Given the description of an element on the screen output the (x, y) to click on. 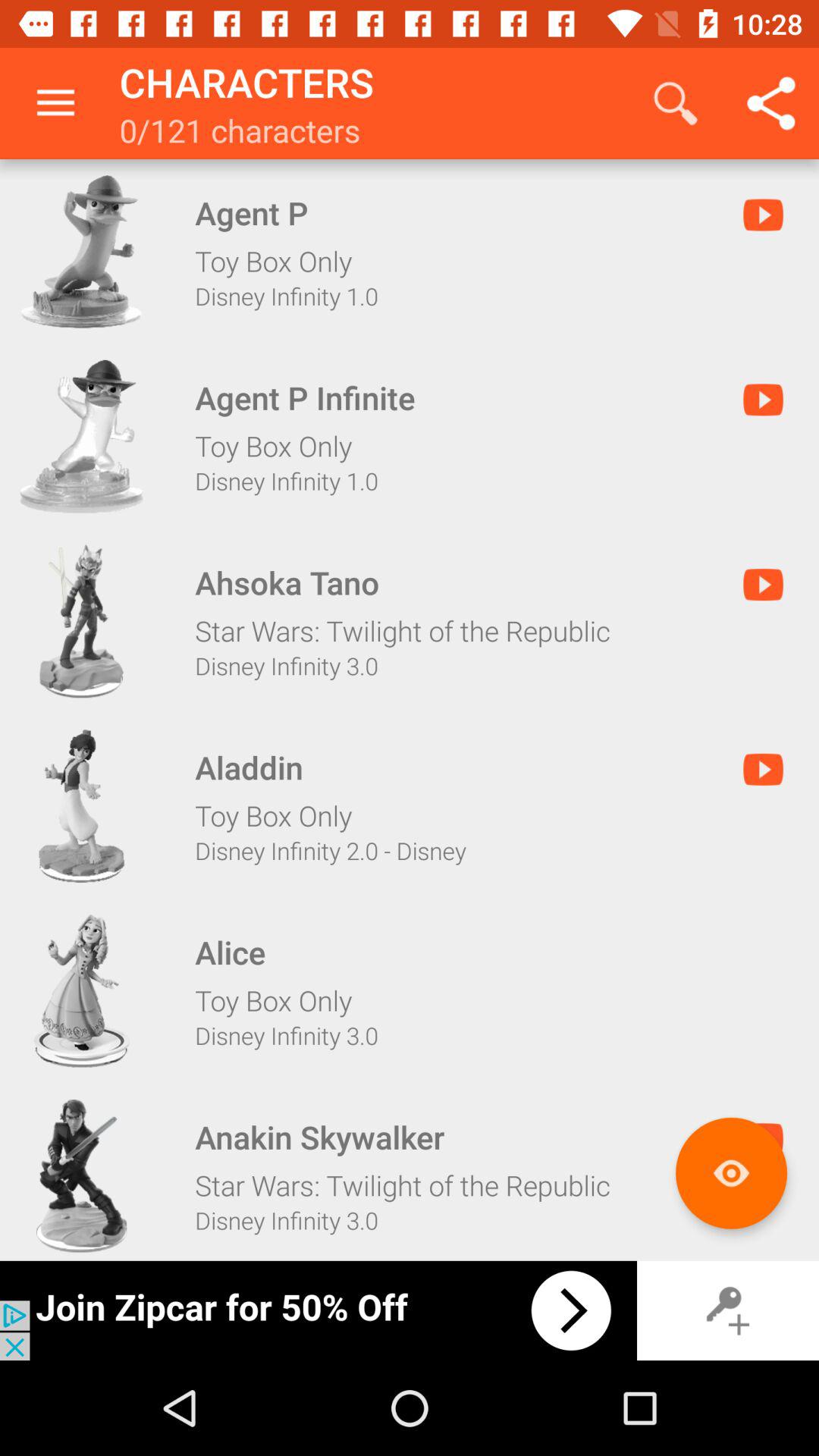
view more (731, 1173)
